Given the description of an element on the screen output the (x, y) to click on. 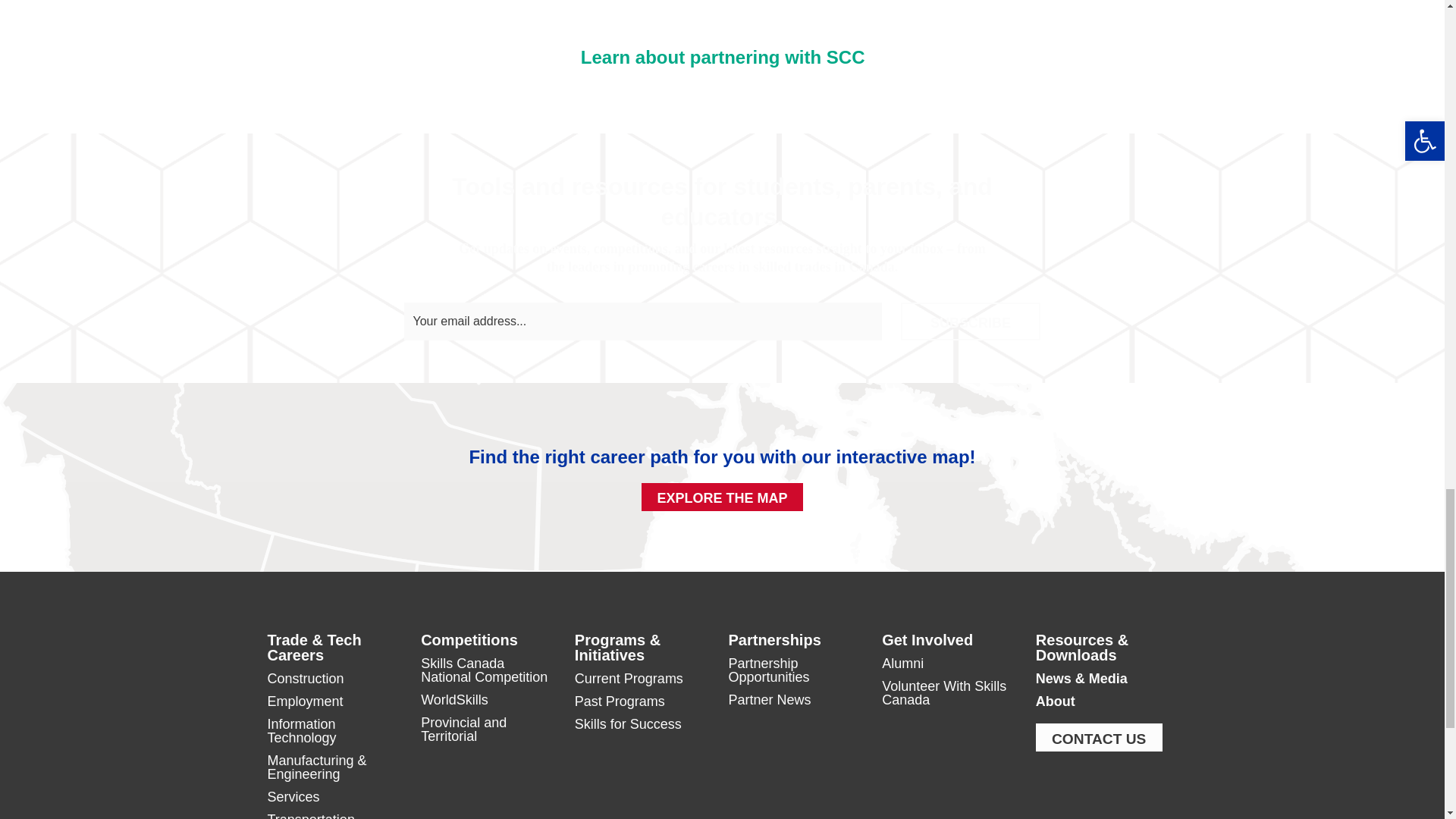
SUBSCRIBE (971, 321)
